Given the description of an element on the screen output the (x, y) to click on. 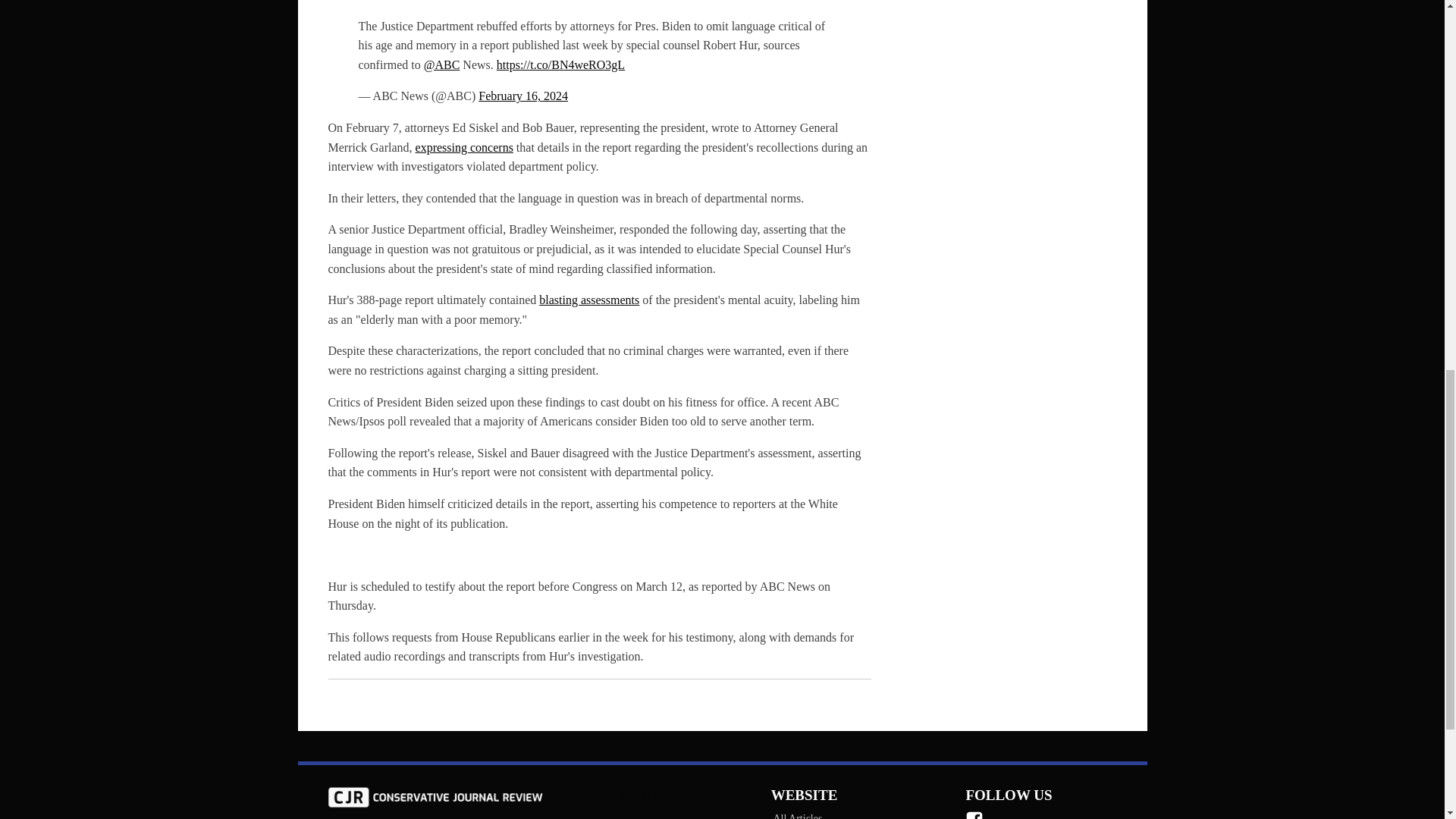
All Articles (803, 812)
February 16, 2024 (523, 95)
blasting assessments (588, 299)
expressing concerns (463, 146)
